Given the description of an element on the screen output the (x, y) to click on. 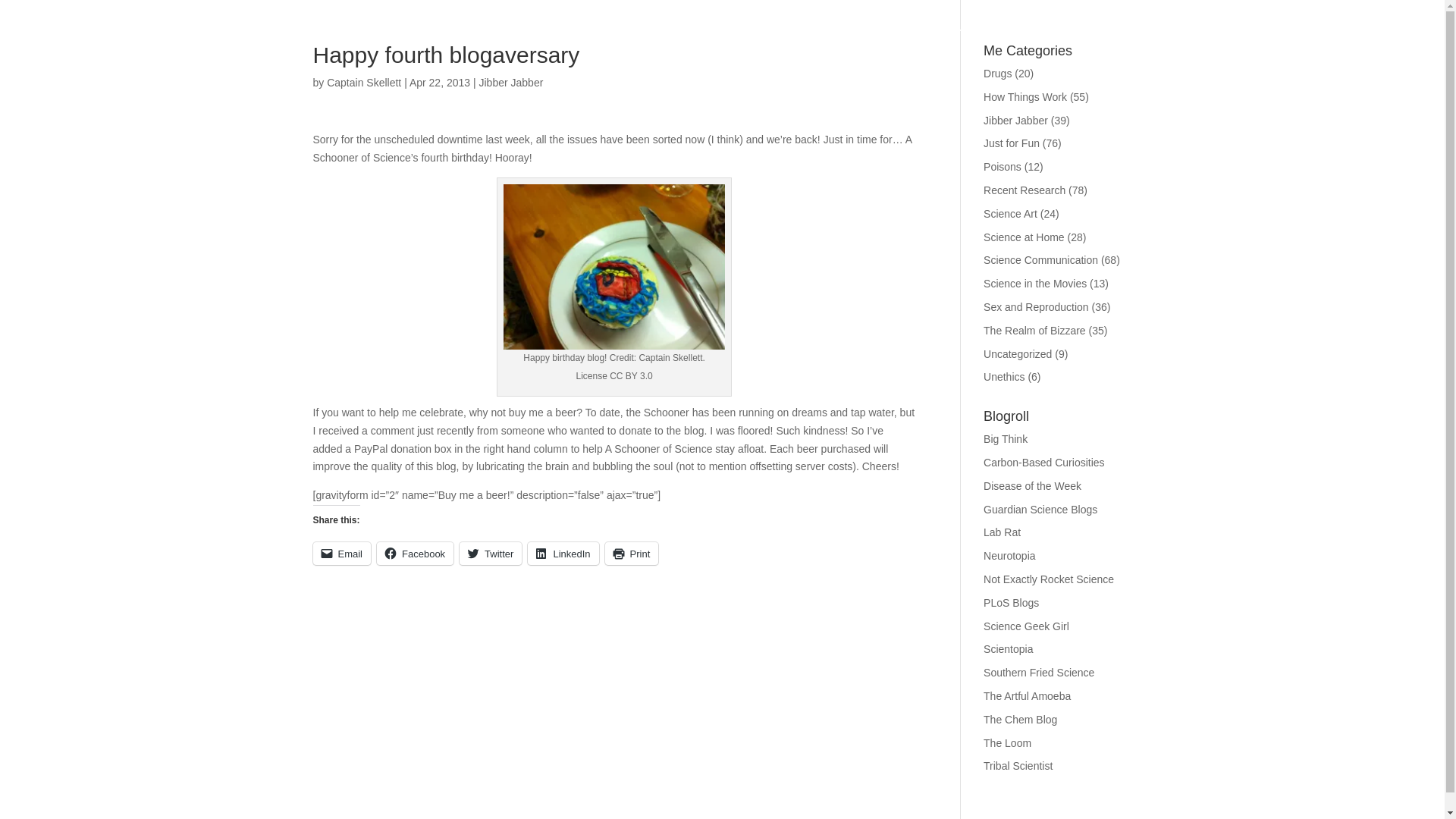
The Artful Amoeba (1027, 695)
Poisons (1003, 166)
Sex and Reproduction (1036, 306)
Facebook (414, 553)
Jibber Jabber (1016, 120)
About the Author (1055, 42)
Posts by Captain Skellett (363, 82)
Science at Home (1024, 236)
How Things Work (1025, 96)
Disease of the Week (1032, 485)
Guardian Science Blogs (1040, 509)
Scientopia (1008, 648)
Twitter (490, 553)
Southern Fried Science (1039, 672)
Science in the Movies (1035, 283)
